Given the description of an element on the screen output the (x, y) to click on. 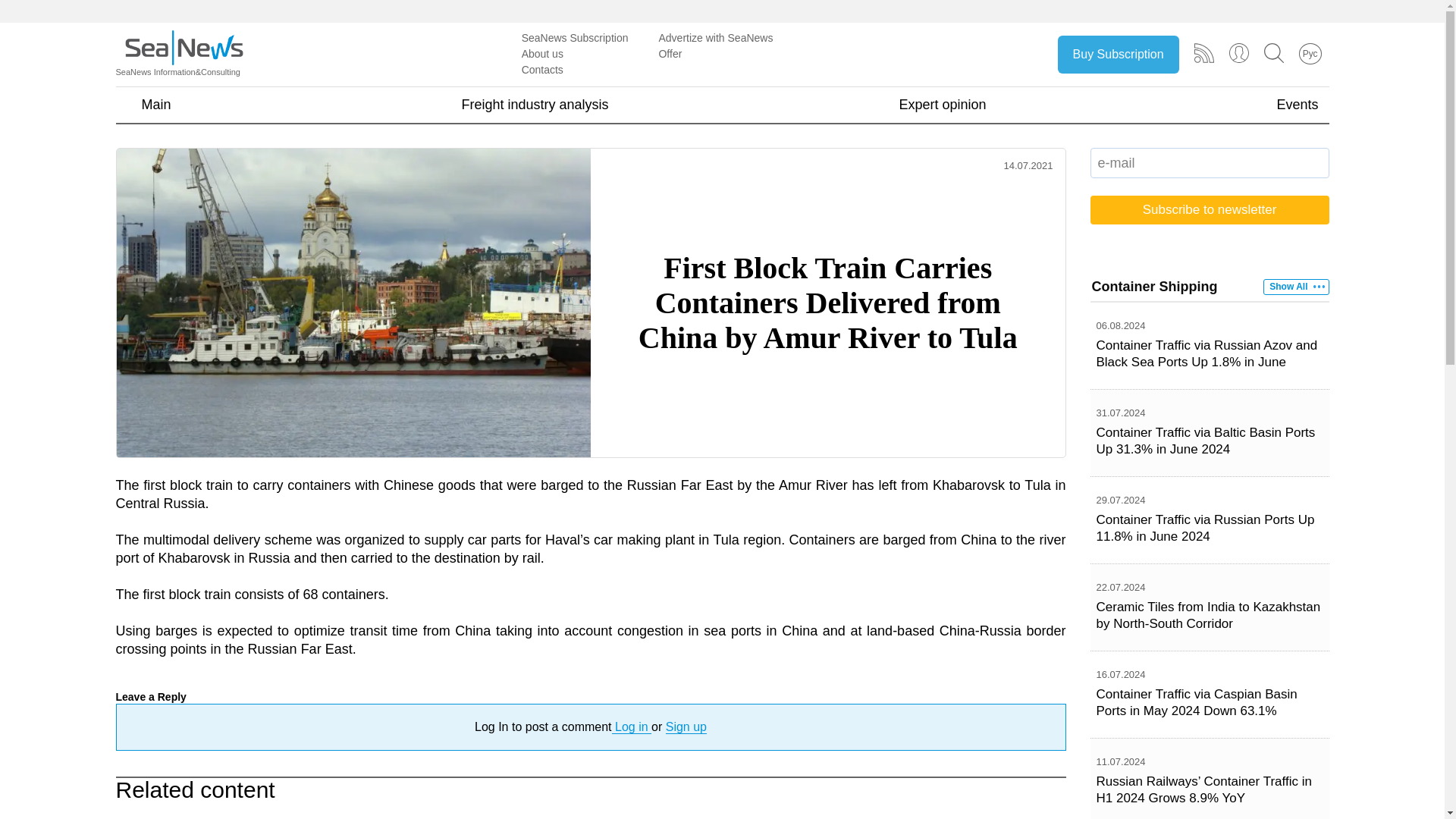
Contacts (542, 69)
Buy Subscription (1118, 54)
Main (155, 104)
Advertize with SeaNews (715, 37)
SeaNews Subscription (574, 37)
About us (542, 53)
Offer (669, 53)
Subscribe to newsletter (1209, 209)
